Given the description of an element on the screen output the (x, y) to click on. 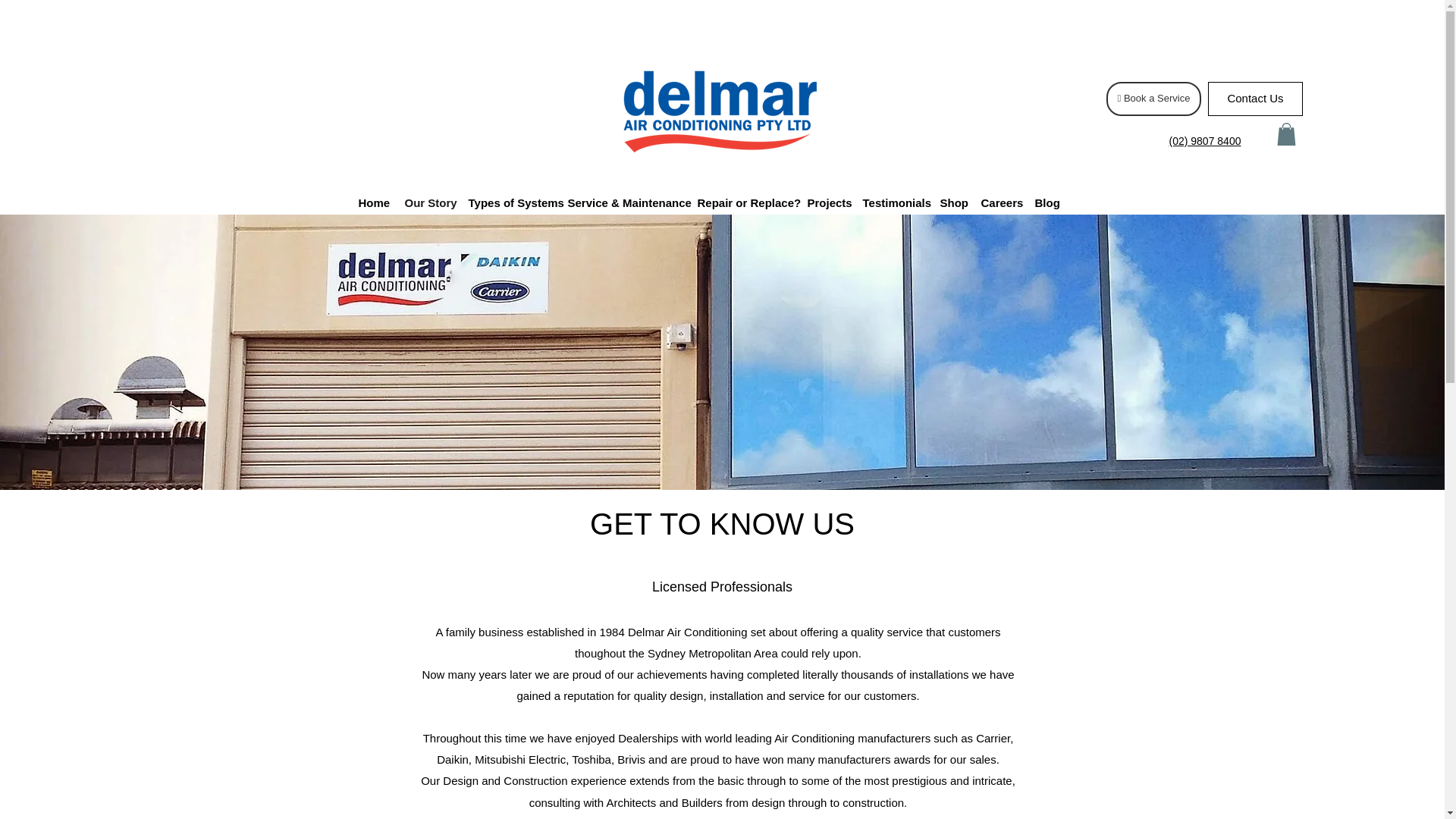
Testimonials (894, 202)
Blog (1045, 202)
Projects (826, 202)
Our Story (429, 202)
Repair or Replace? (744, 202)
Shop (953, 202)
Delmar Air Conditioning PTY LTD (720, 111)
Home (373, 202)
Contact Us (1255, 98)
Careers (1000, 202)
